Given the description of an element on the screen output the (x, y) to click on. 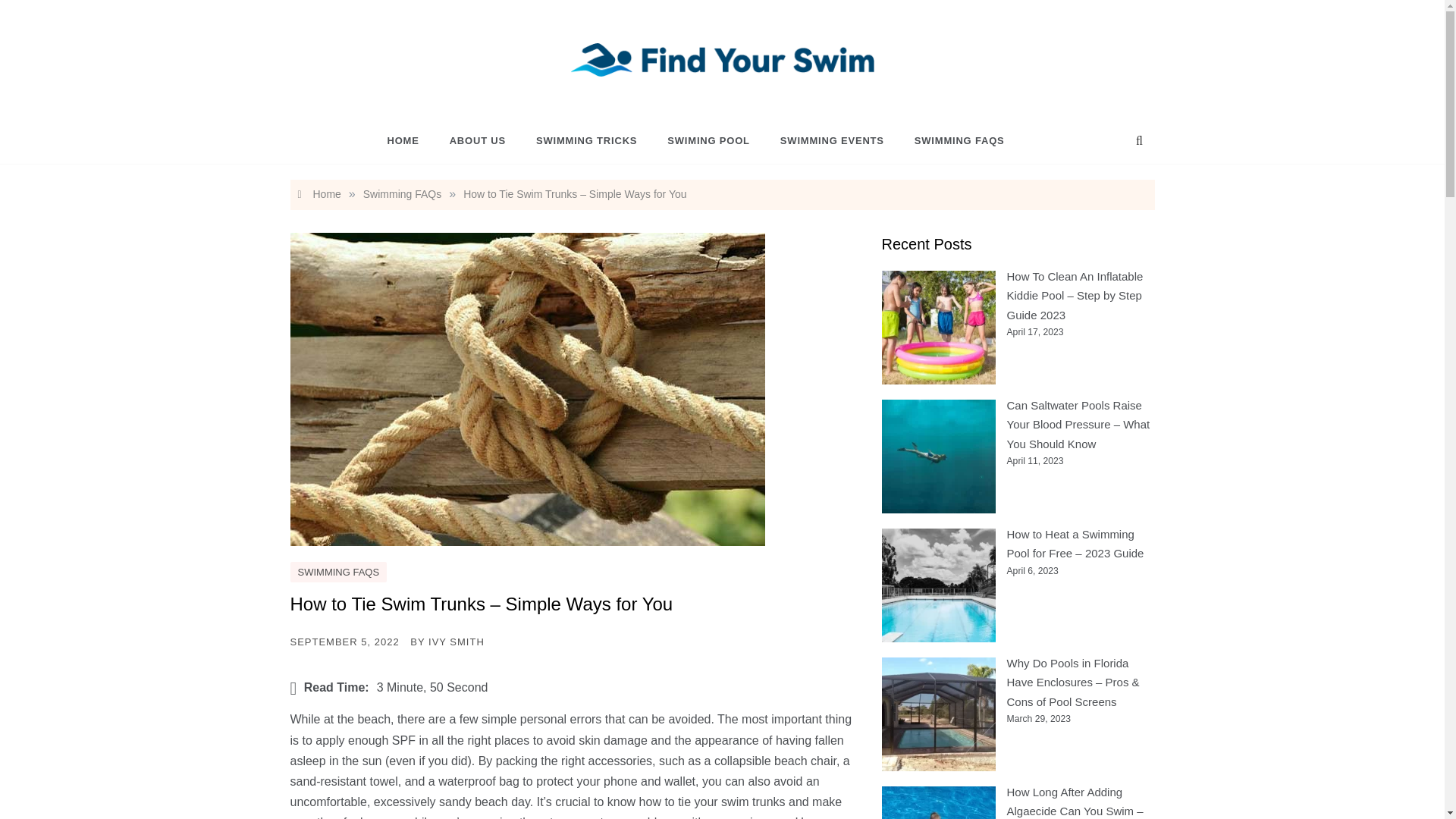
Home (318, 193)
HOME (410, 140)
Swimming FAQs (401, 193)
SWIMMING TRICKS (586, 140)
FIND YOUR SWIM (673, 93)
SWIMMING FAQS (951, 140)
ABOUT US (477, 140)
SWIMING POOL (708, 140)
IVY SMITH (456, 641)
SEPTEMBER 5, 2022 (343, 641)
SWIMMING FAQS (338, 571)
SWIMMING EVENTS (832, 140)
